Given the description of an element on the screen output the (x, y) to click on. 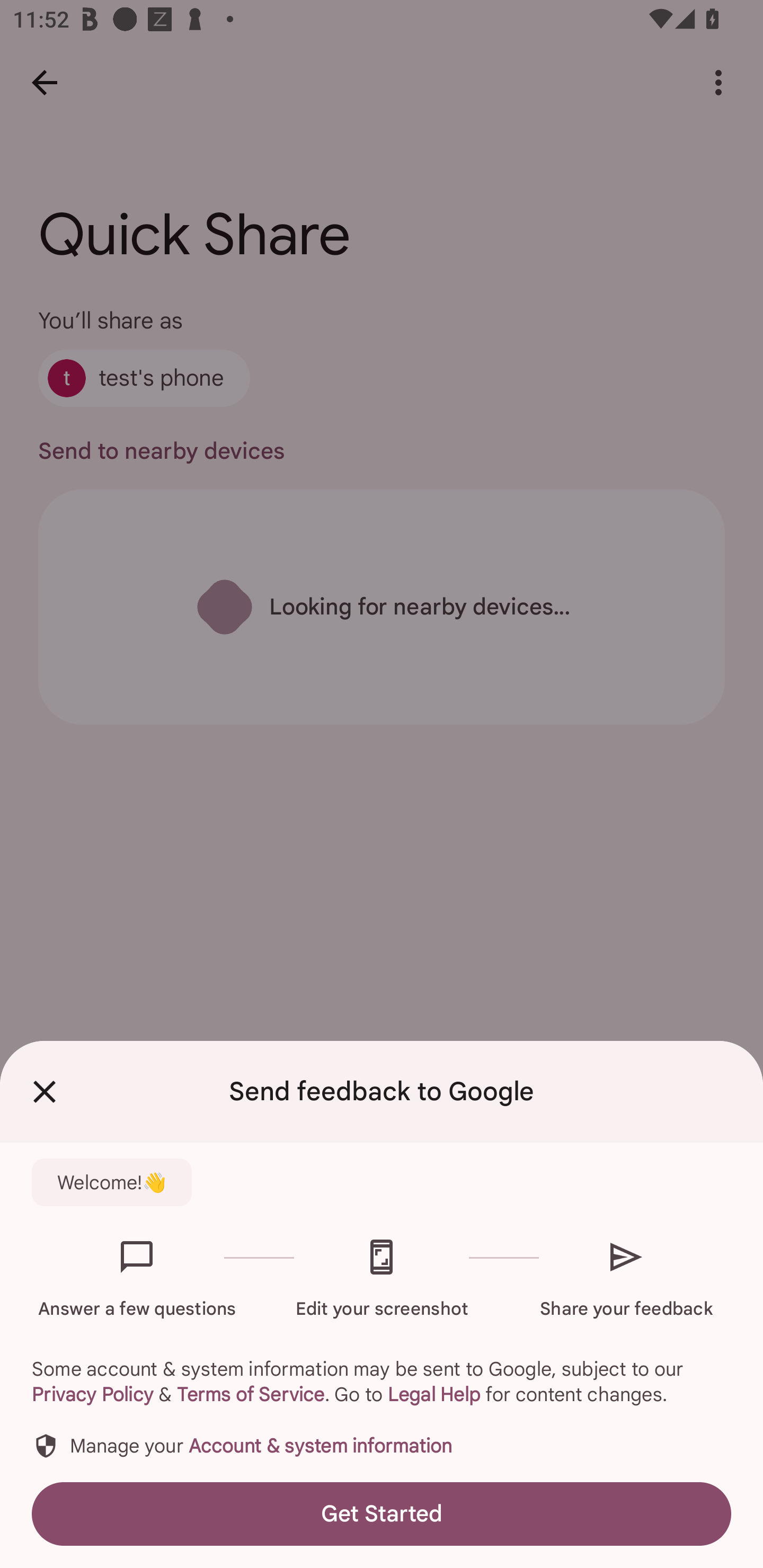
Close Feedback (44, 1091)
Get Started (381, 1513)
